Given the description of an element on the screen output the (x, y) to click on. 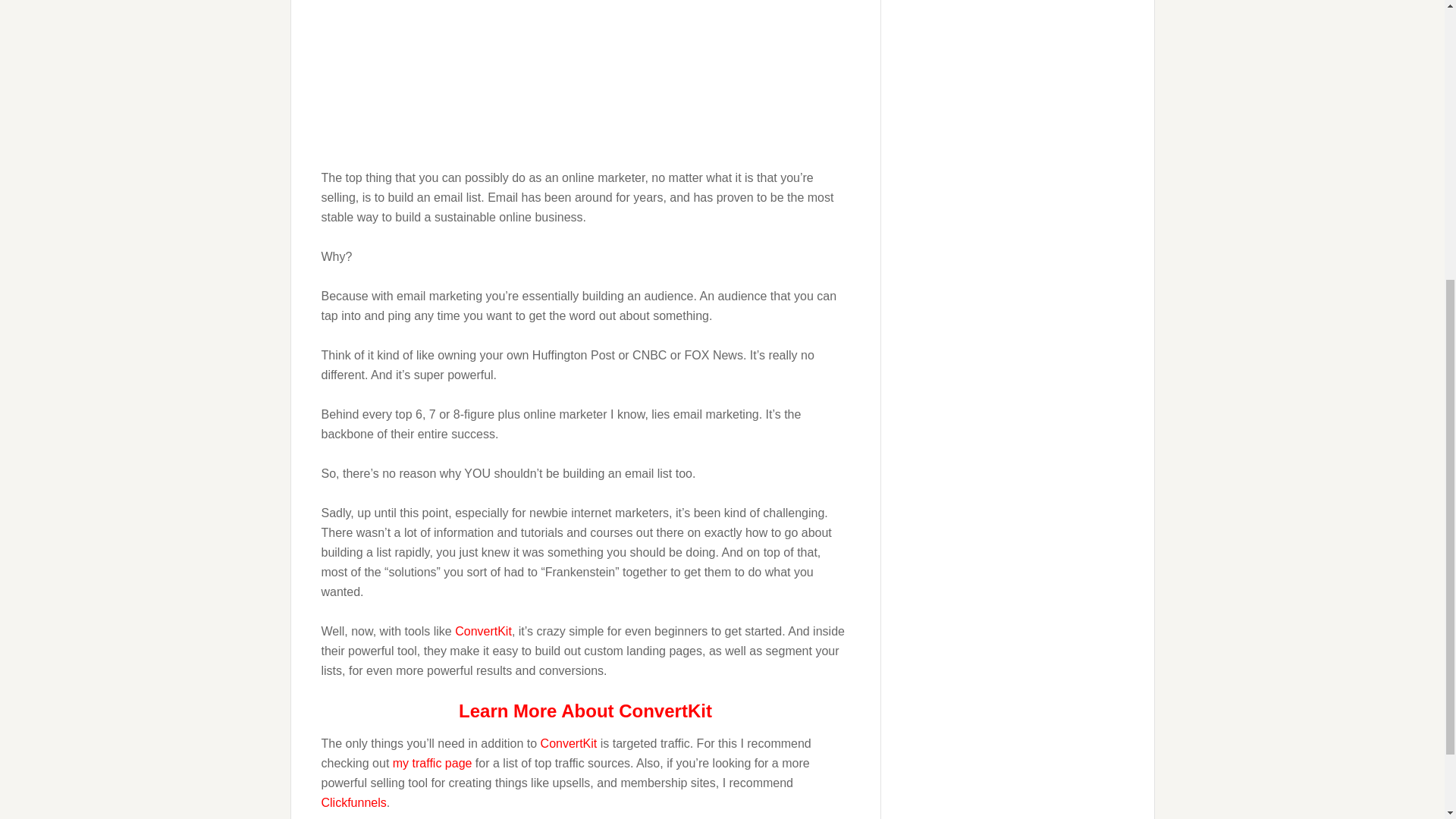
ConvertKit (483, 631)
Clickfunnels (354, 802)
Learn More About ConvertKit (584, 711)
my traffic page (432, 762)
ConvertKit (568, 743)
